Given the description of an element on the screen output the (x, y) to click on. 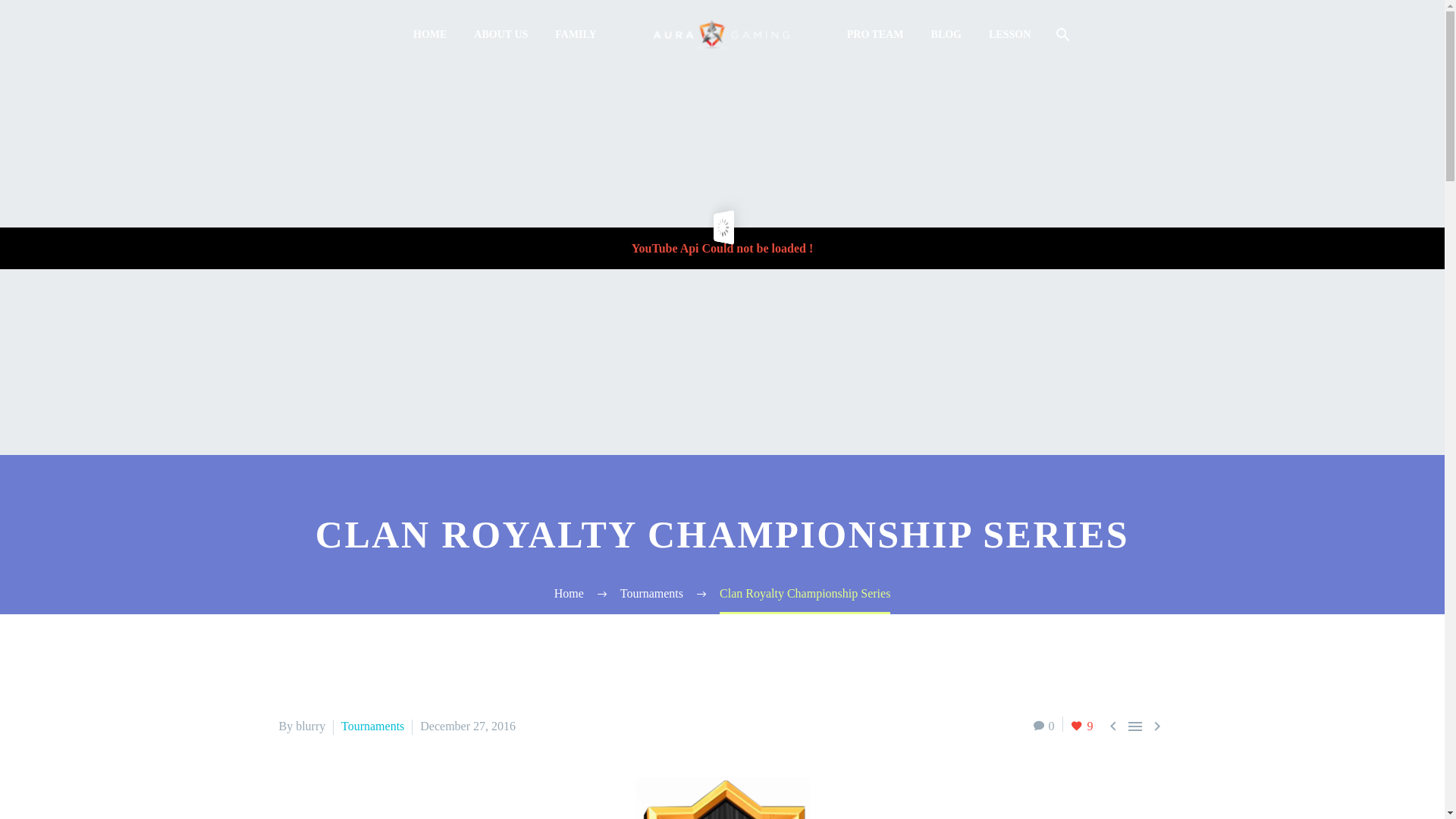
0 (1043, 725)
ABOUT US (500, 34)
9 (1081, 725)
Next post (1157, 725)
View all posts in Tournaments (372, 725)
Previous post (1112, 725)
PRO TEAM (875, 34)
Like this (1081, 725)
Tournaments (651, 593)
HOME (429, 34)
LESSON (1009, 34)
BLOG (946, 34)
FAMILY (575, 34)
Home (568, 593)
Tournaments (372, 725)
